Given the description of an element on the screen output the (x, y) to click on. 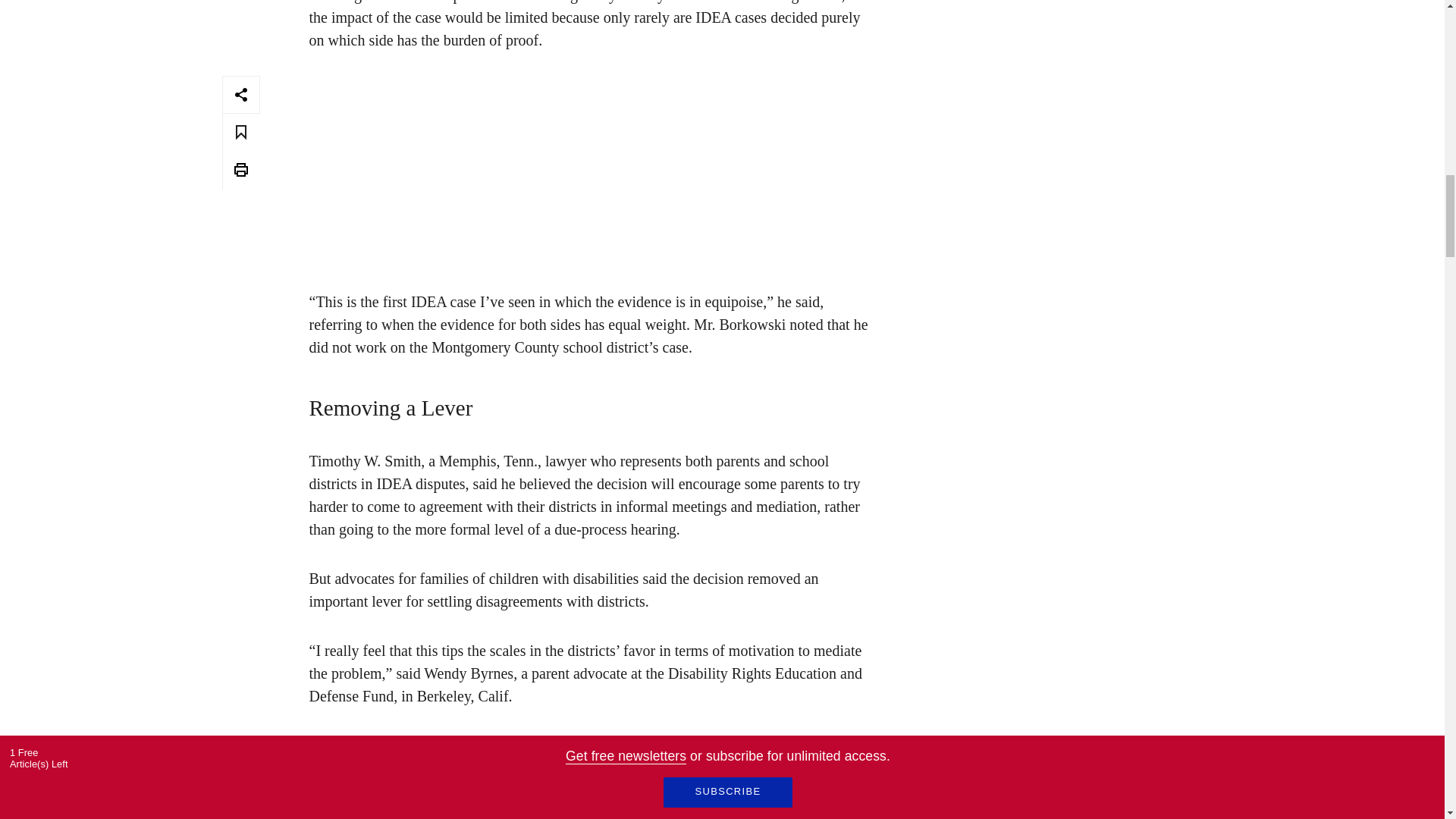
3rd party ad content (590, 168)
